Given the description of an element on the screen output the (x, y) to click on. 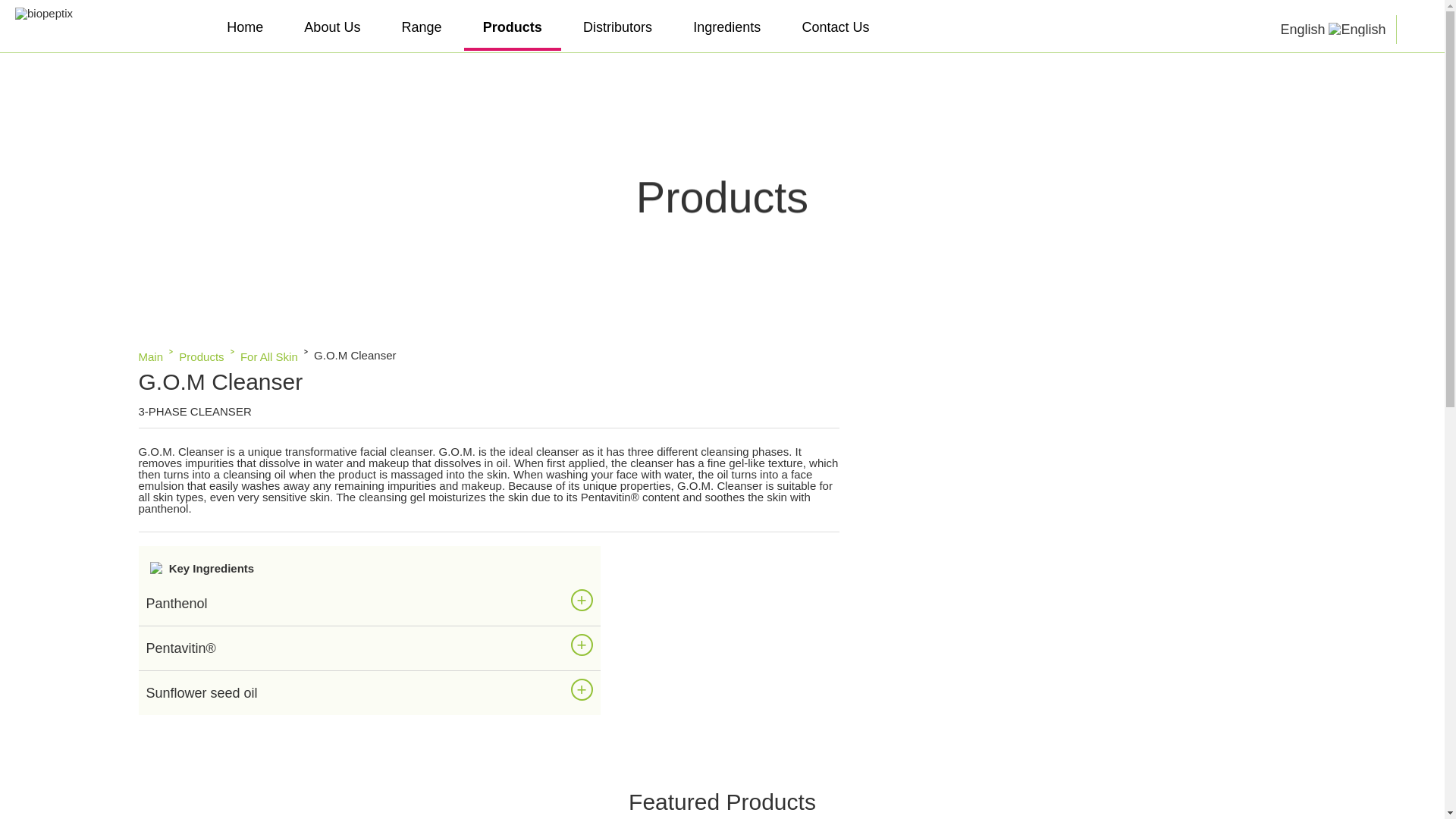
Products (512, 28)
Ingredients (726, 28)
Contact Us (835, 28)
Main (150, 356)
English (1332, 29)
About Us (331, 28)
Range (421, 28)
Home (245, 28)
For All Skin (269, 356)
Products (201, 356)
Distributors (617, 28)
